Given the description of an element on the screen output the (x, y) to click on. 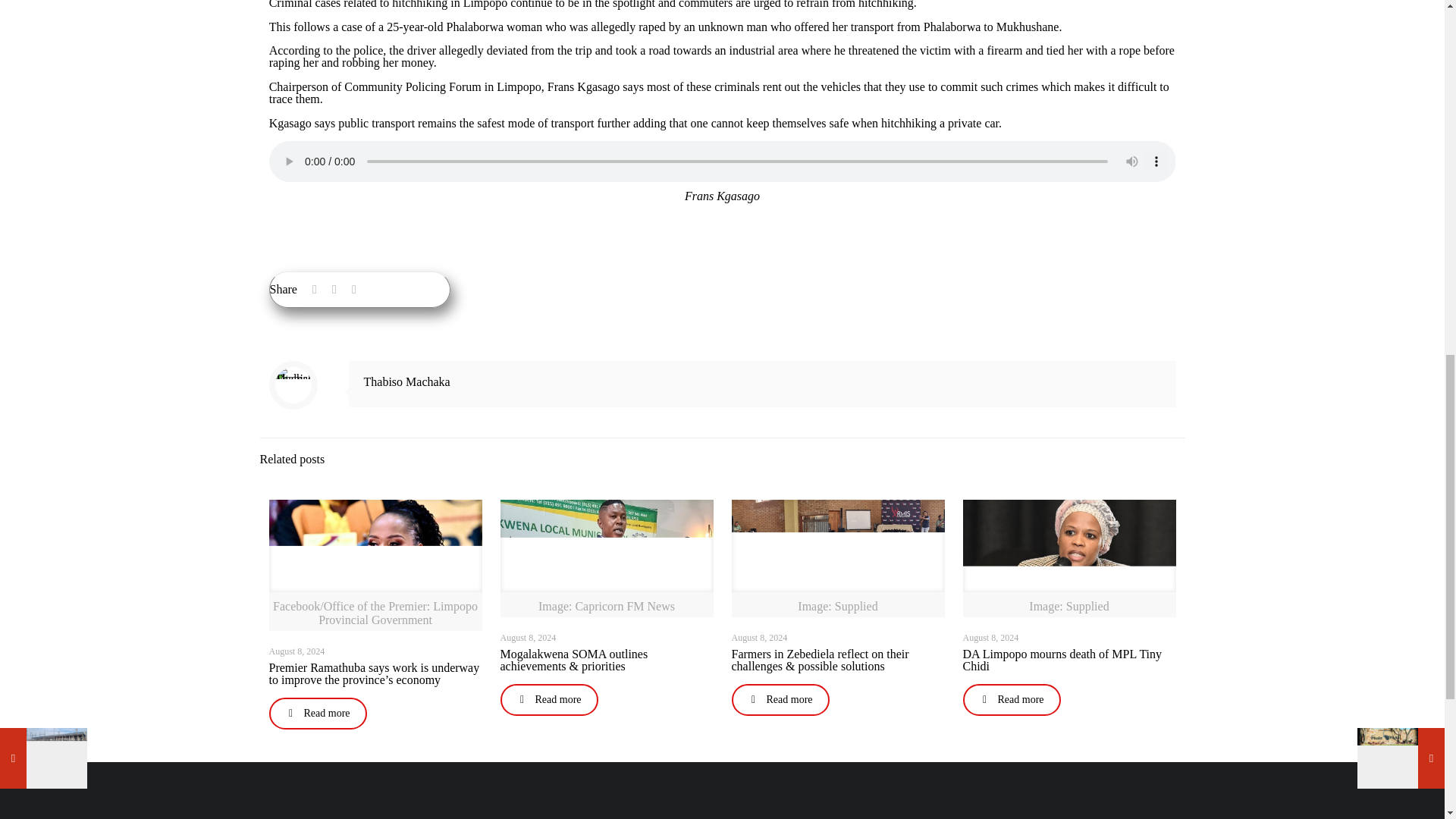
Read more (779, 699)
Thabiso Machaka (406, 381)
Read more (316, 713)
Read more (549, 699)
